Given the description of an element on the screen output the (x, y) to click on. 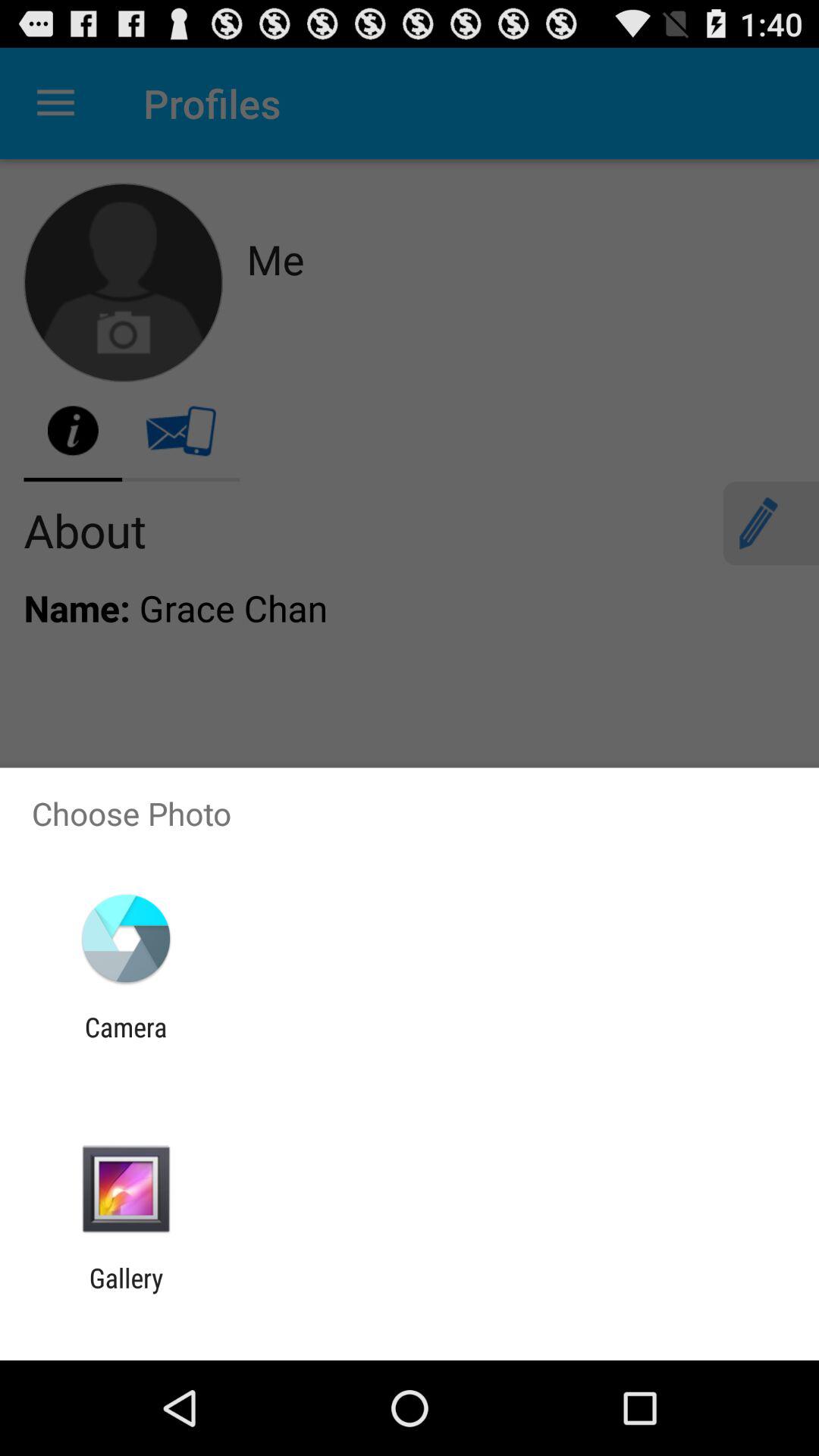
select camera (125, 1042)
